Given the description of an element on the screen output the (x, y) to click on. 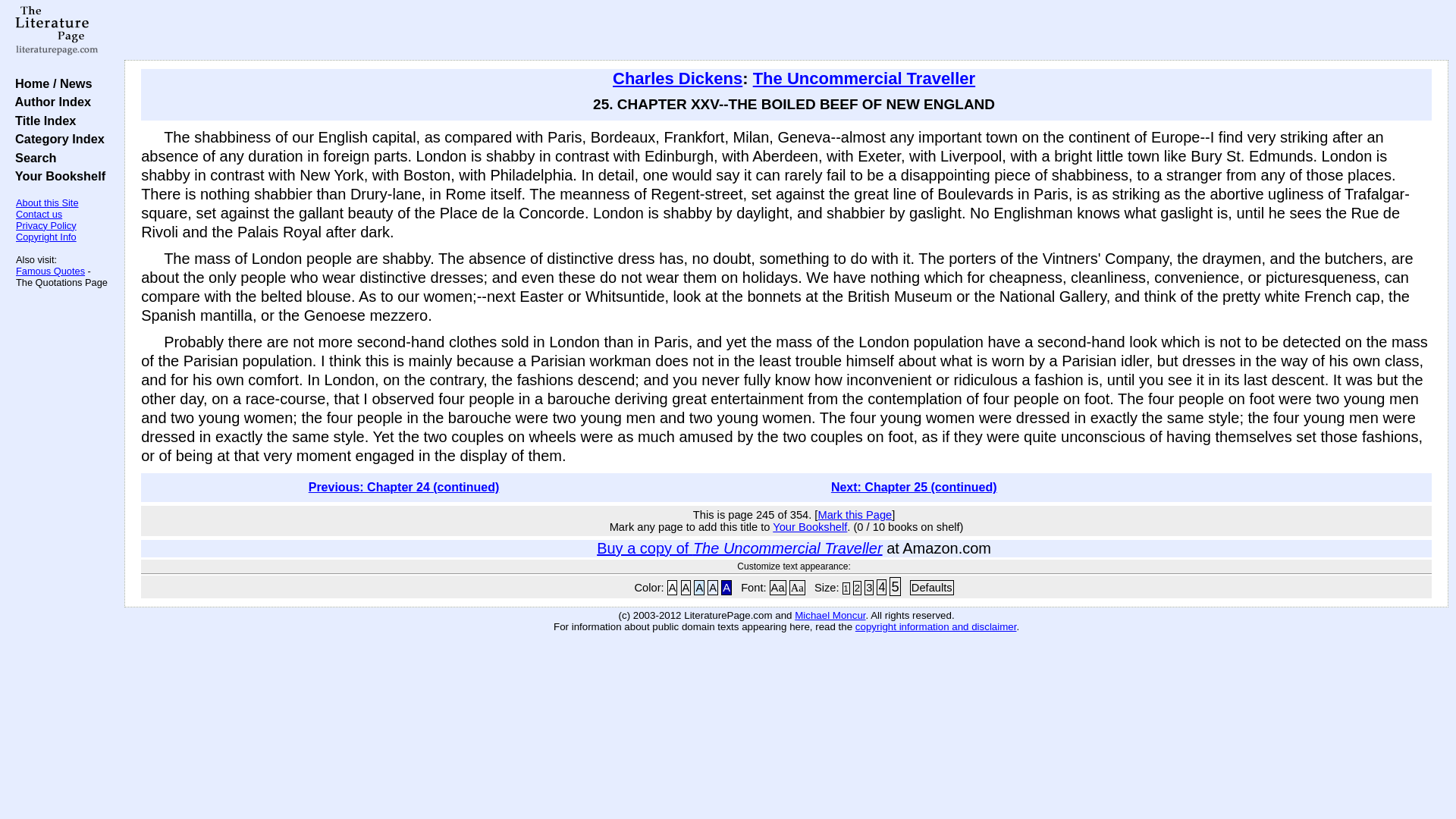
  Your Bookshelf (56, 175)
Mark this Page (853, 514)
Aa (778, 587)
Copyright Info (46, 236)
Serif (797, 587)
Contact us (39, 214)
  Category Index (56, 138)
  Author Index (49, 101)
  Title Index (41, 120)
About this Site (47, 202)
Charles Dickens (677, 77)
Buy a copy of The Uncommercial Traveller (739, 547)
The Uncommercial Traveller (863, 77)
copyright information and disclaimer (936, 626)
Reset to Defaults (931, 587)
